Given the description of an element on the screen output the (x, y) to click on. 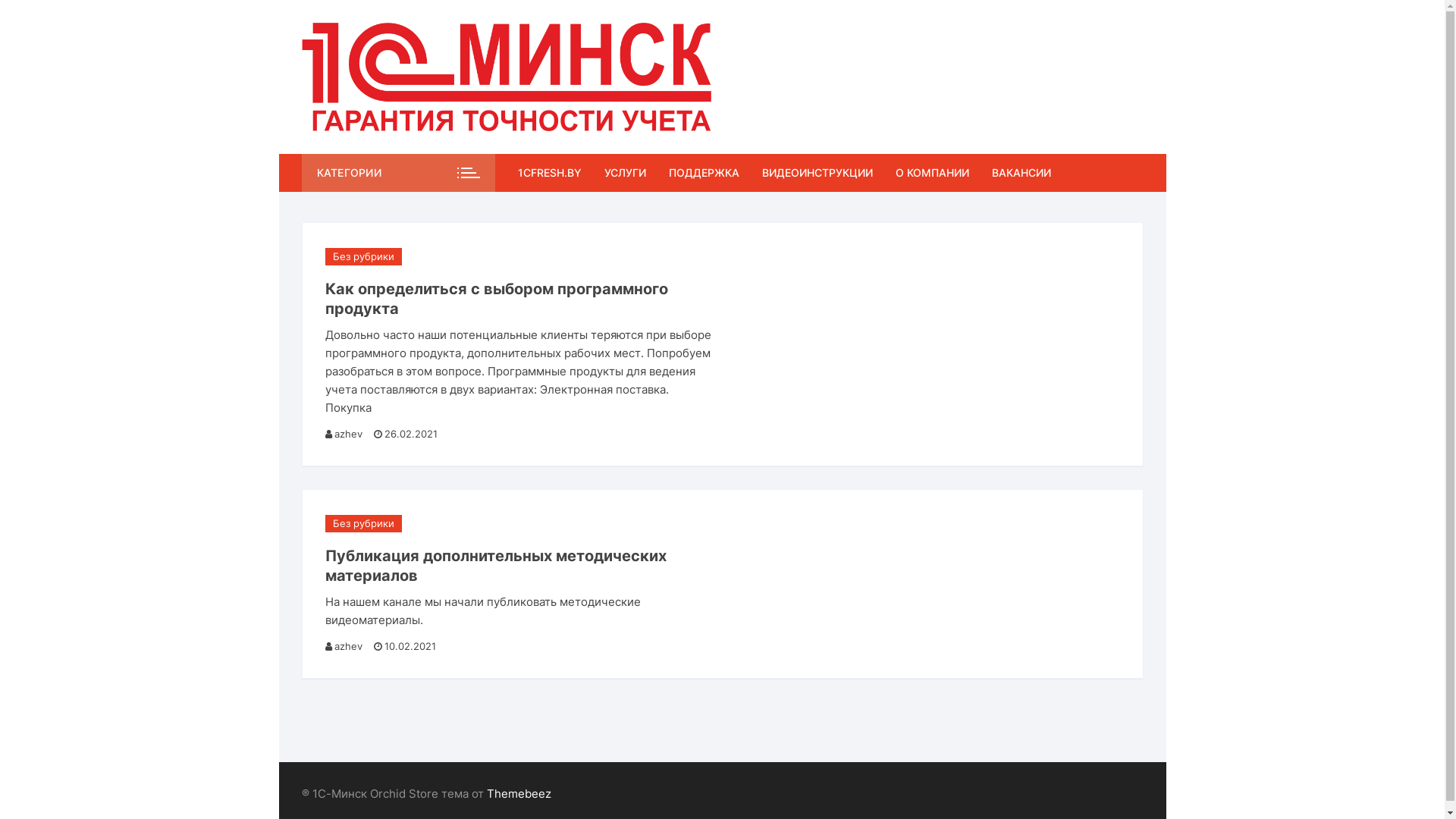
Themebeez Element type: text (518, 793)
10.02.2021 Element type: text (404, 646)
azhev Element type: text (348, 646)
1CFRESH.BY Element type: text (554, 172)
azhev Element type: text (348, 434)
26.02.2021 Element type: text (404, 434)
